Given the description of an element on the screen output the (x, y) to click on. 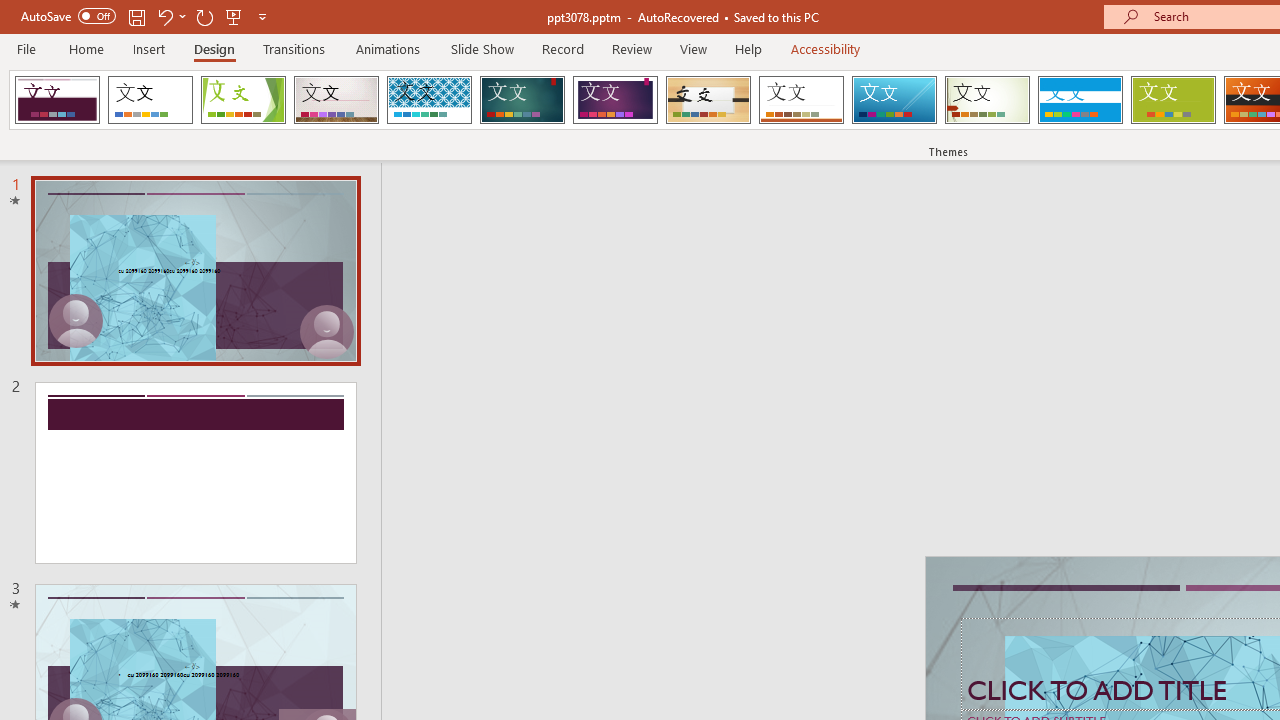
Integral (429, 100)
Retrospect (801, 100)
Wisp (987, 100)
Basis (1172, 100)
Slice (893, 100)
